Given the description of an element on the screen output the (x, y) to click on. 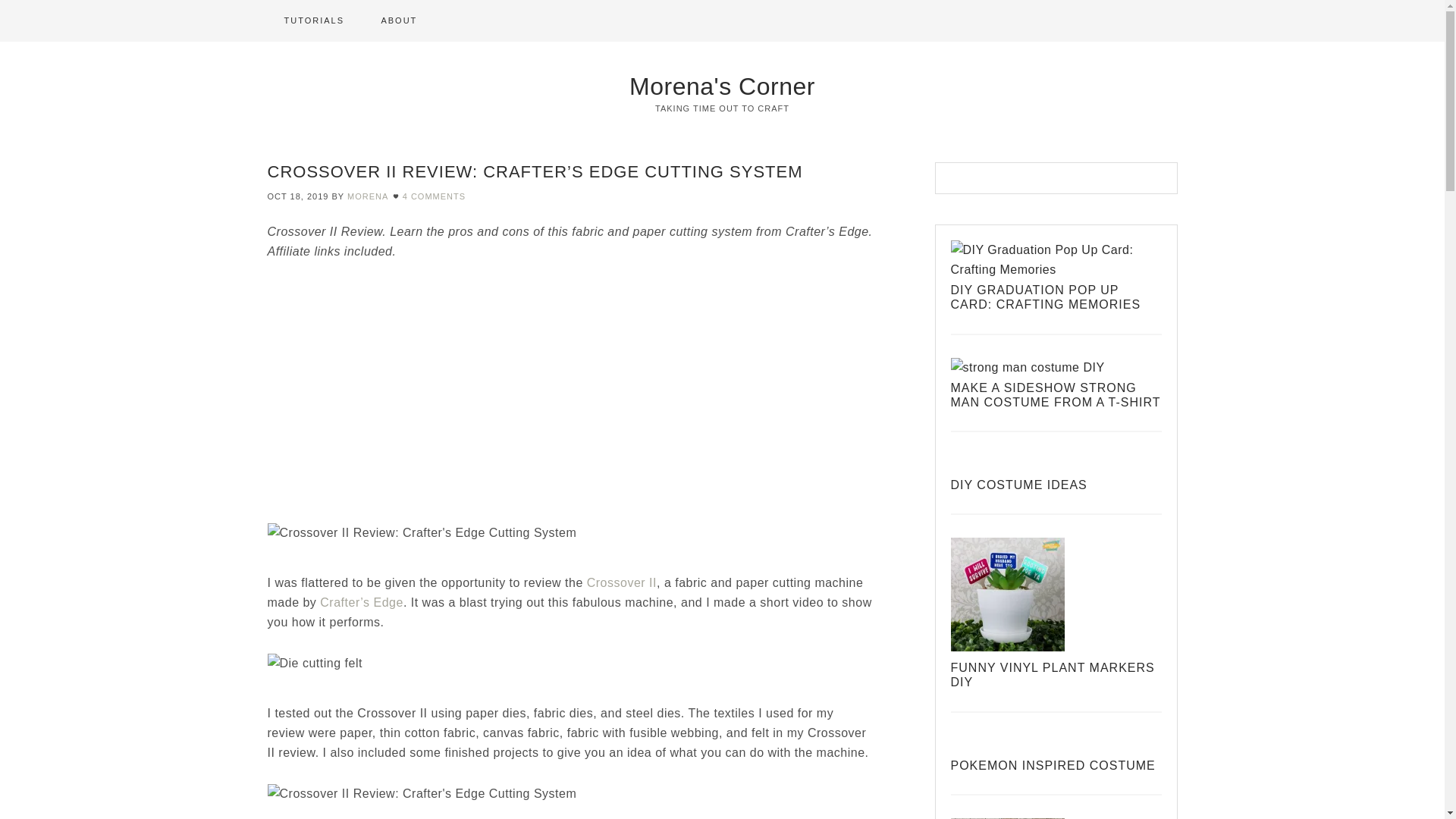
Crossover II (621, 582)
POKEMON INSPIRED COSTUME (1053, 765)
ABOUT (398, 20)
Morena's Corner (721, 85)
MAKE A SIDESHOW STRONG MAN COSTUME FROM A T-SHIRT (1055, 394)
FUNNY VINYL PLANT MARKERS DIY (1052, 674)
MORENA (367, 195)
TUTORIALS (313, 20)
Crossover II Review: Crafter's Edge Cutting System (456, 389)
DIY COSTUME IDEAS (1018, 484)
4 COMMENTS (434, 195)
DIY GRADUATION POP UP CARD: CRAFTING MEMORIES (1045, 297)
